Given the description of an element on the screen output the (x, y) to click on. 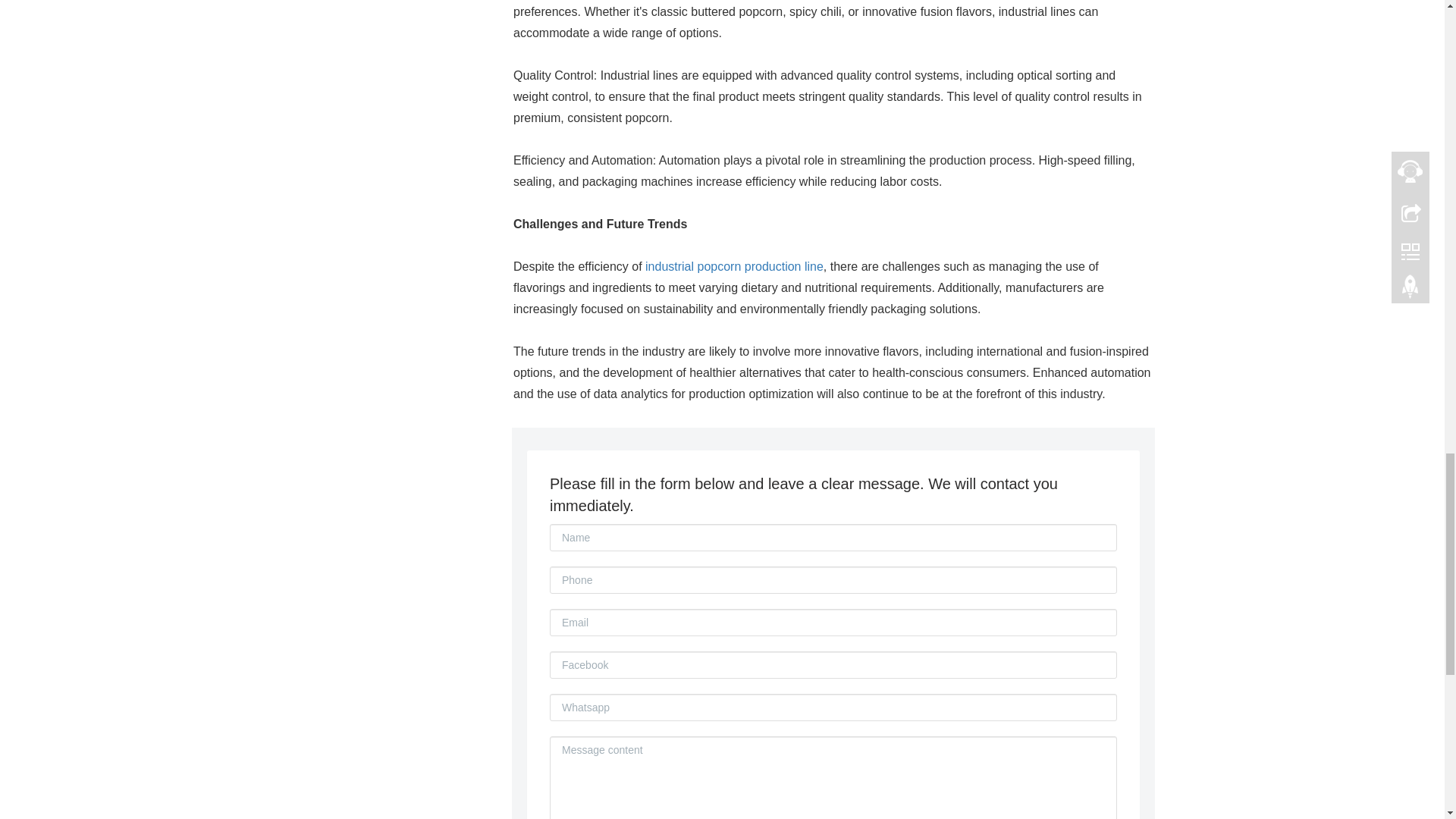
industrial popcorn production line (734, 266)
